Given the description of an element on the screen output the (x, y) to click on. 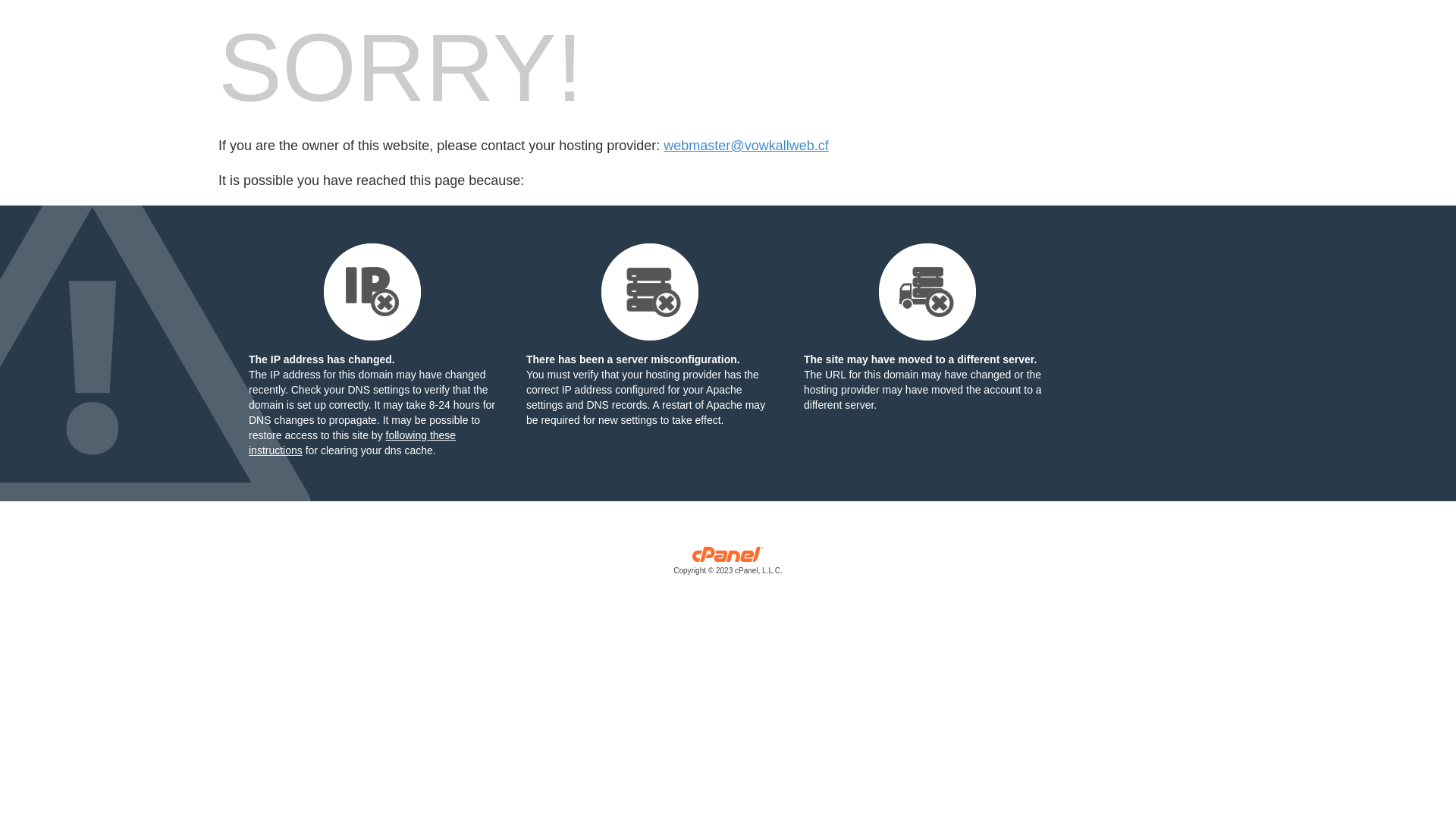
following these instructions Element type: text (351, 442)
webmaster@vowkallweb.cf Element type: text (745, 145)
